Given the description of an element on the screen output the (x, y) to click on. 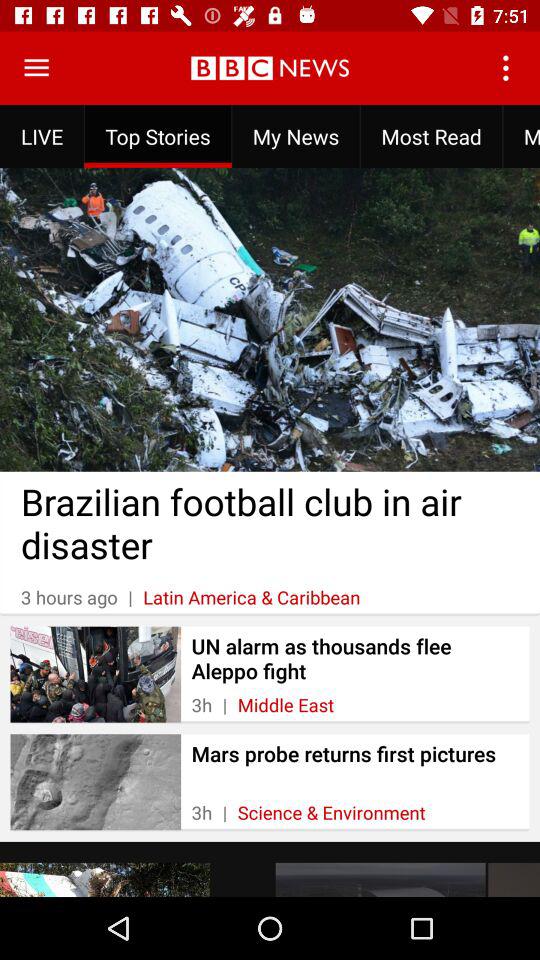
launch the top stories icon (157, 136)
